Given the description of an element on the screen output the (x, y) to click on. 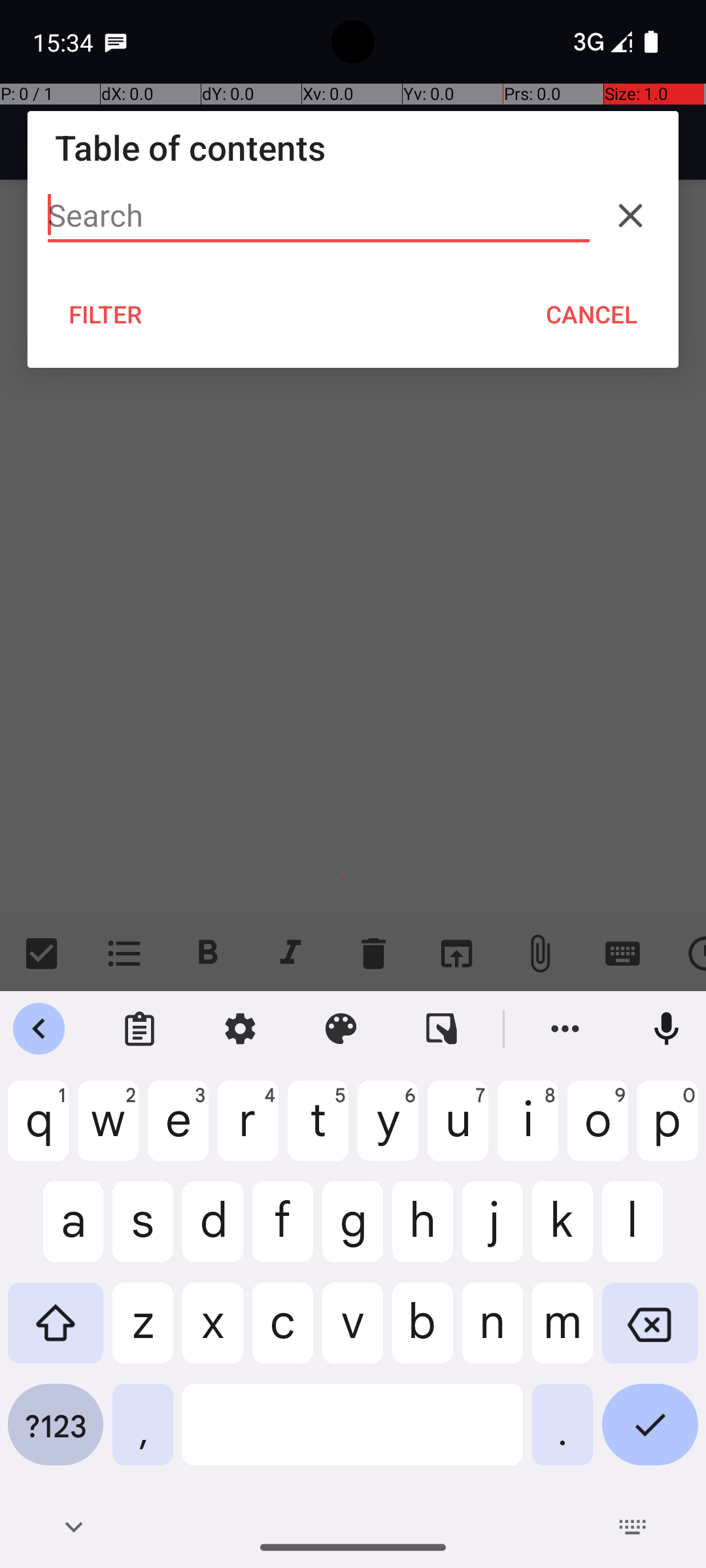
FILTER Element type: android.widget.Button (105, 313)
